Given the description of an element on the screen output the (x, y) to click on. 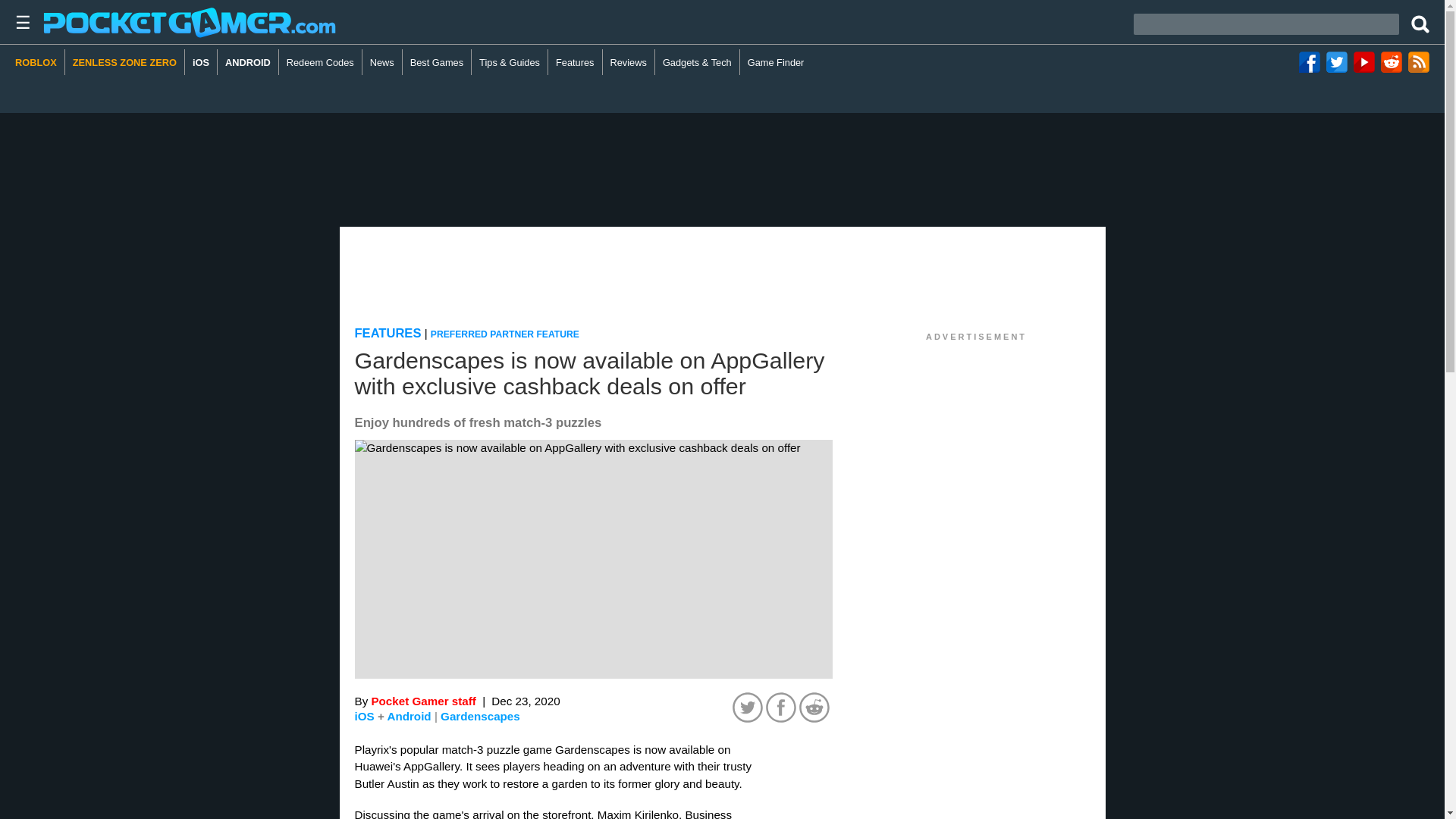
Gardenscapes (480, 716)
ANDROID (247, 62)
Android (408, 716)
Redeem Codes (320, 62)
ZENLESS ZONE ZERO (124, 62)
Best Games (437, 62)
iOS (200, 62)
Reviews (628, 62)
FEATURES (388, 332)
Features (575, 62)
ROBLOX (39, 62)
News (382, 62)
Pocket Gamer staff (423, 700)
Game Finder (775, 62)
iOS (364, 716)
